Given the description of an element on the screen output the (x, y) to click on. 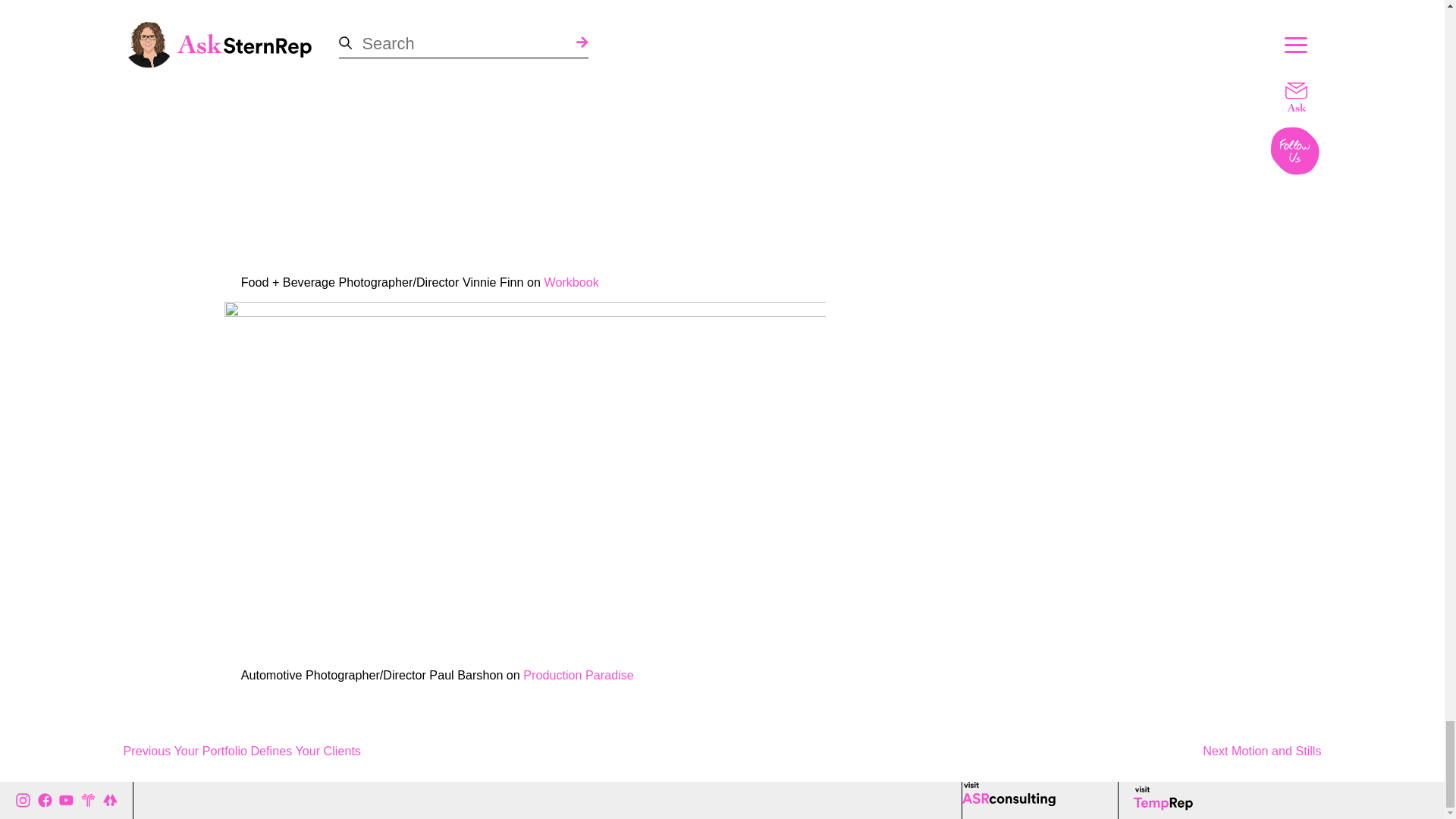
Production Paradise (577, 674)
Workbook (570, 282)
